Given the description of an element on the screen output the (x, y) to click on. 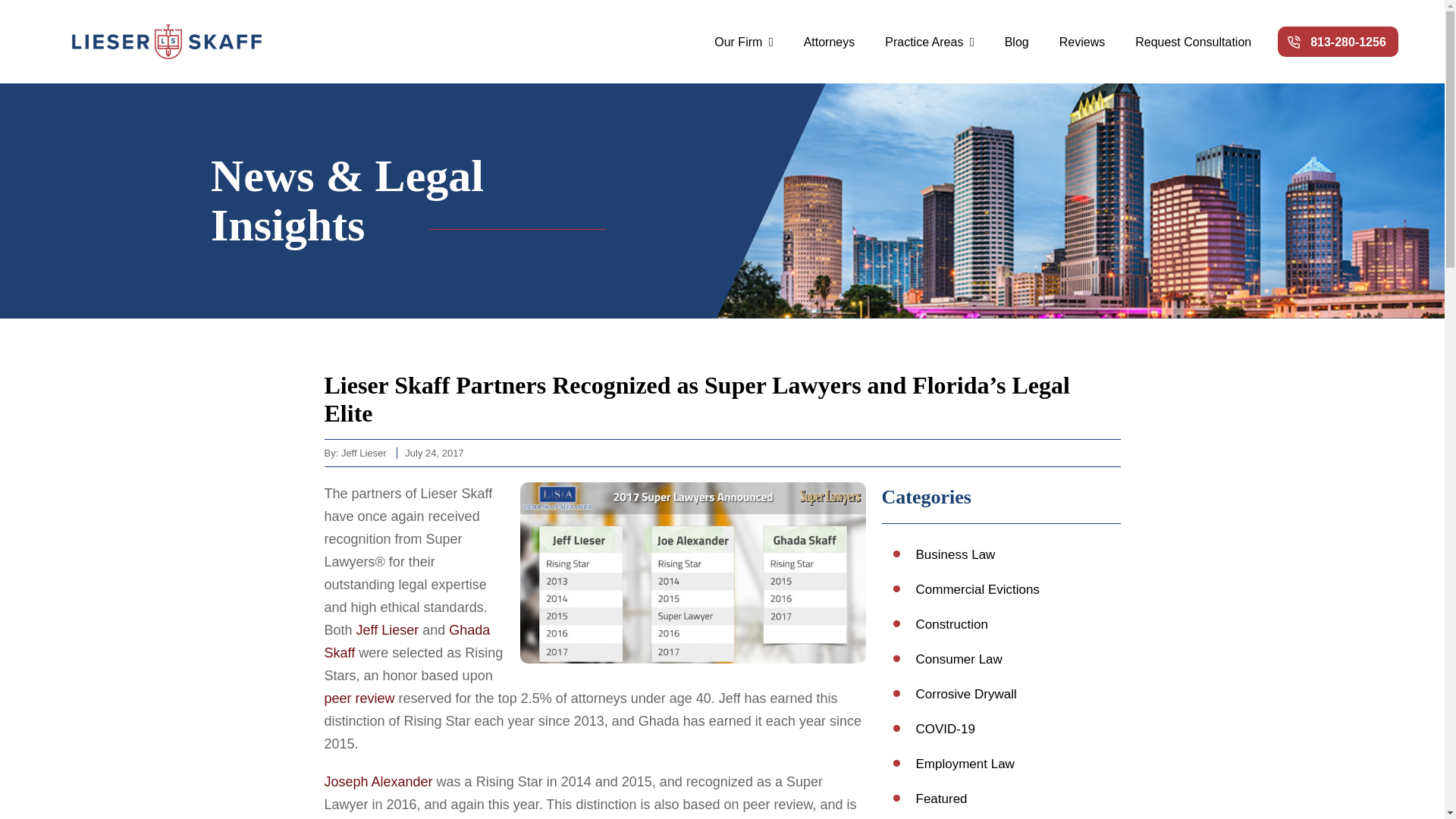
Blog (1016, 41)
Peer Review (359, 698)
Corrosive Drywall (965, 694)
COVID-19 (945, 728)
Employment Law (964, 763)
Practice Areas (929, 41)
Construction (951, 624)
Our Firm (743, 41)
Joseph Alexander (380, 781)
peer review (359, 698)
